Given the description of an element on the screen output the (x, y) to click on. 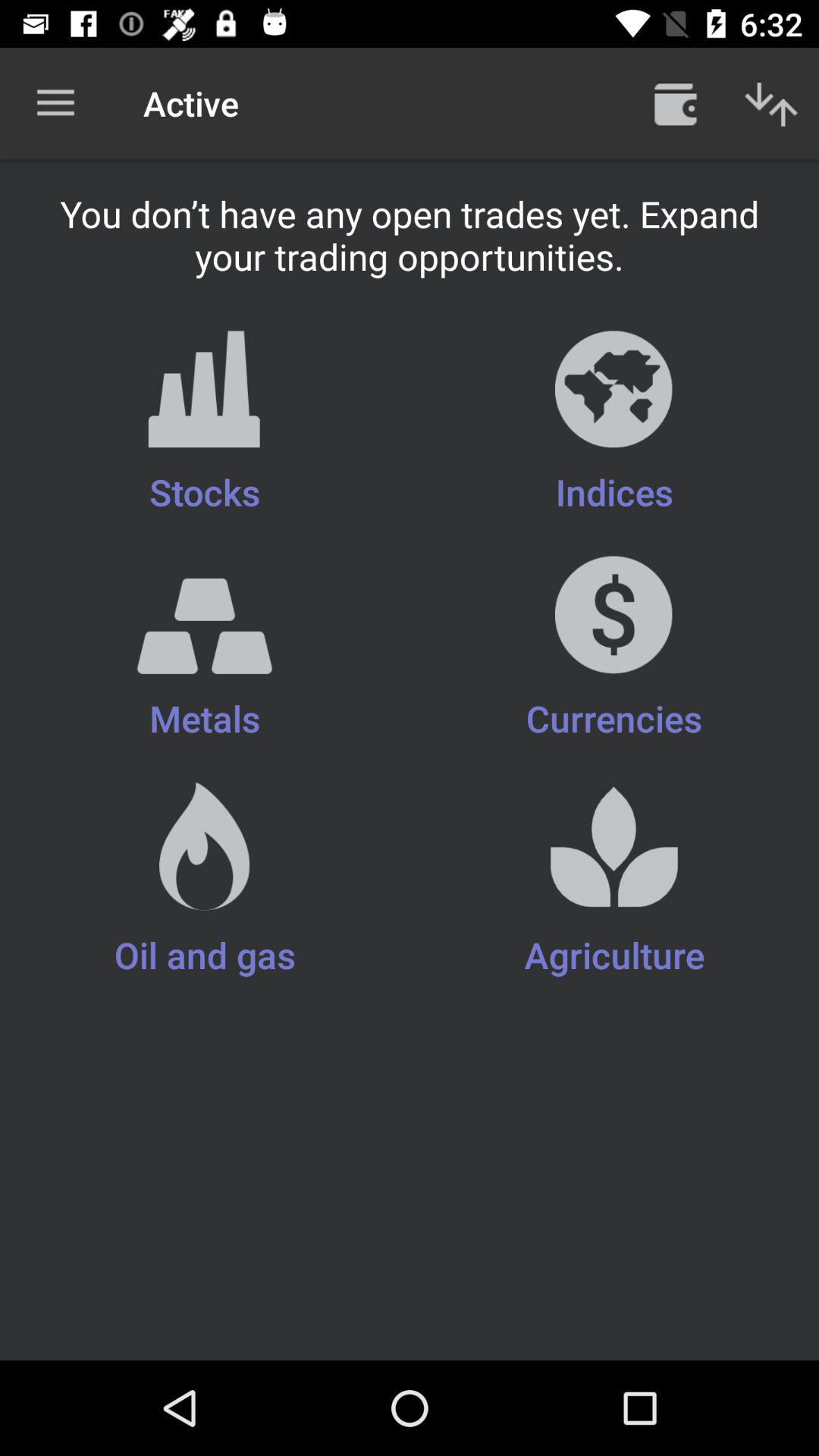
launch the agriculture icon (614, 881)
